Given the description of an element on the screen output the (x, y) to click on. 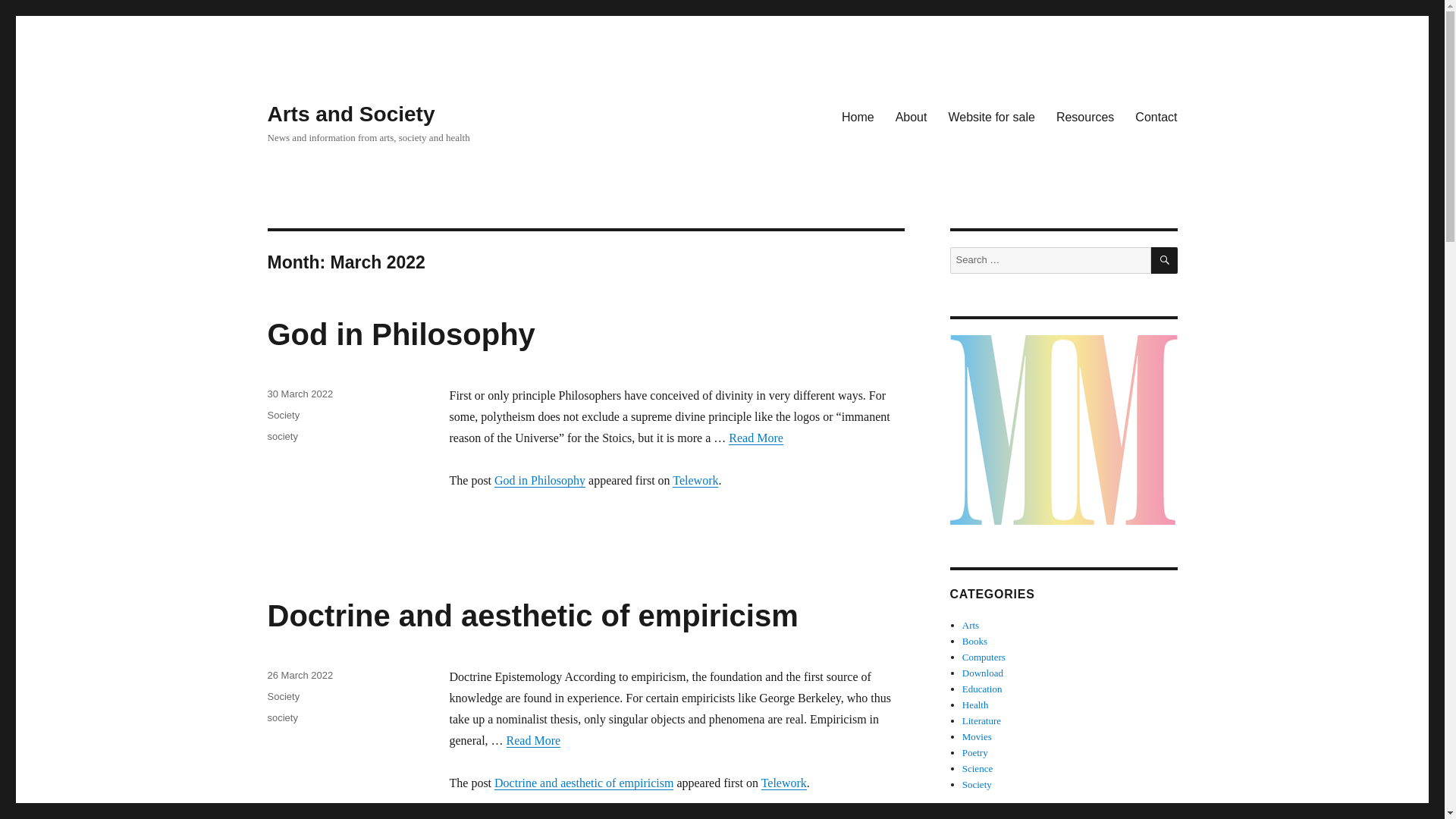
Doctrine and aesthetic of empiricism (531, 615)
Arts and Society (349, 114)
Telework (694, 480)
Doctrine and aesthetic of empiricism (583, 782)
Read More (533, 739)
Society (282, 414)
30 March 2022 (299, 393)
About (911, 116)
Website for sale (991, 116)
society (281, 436)
